Given the description of an element on the screen output the (x, y) to click on. 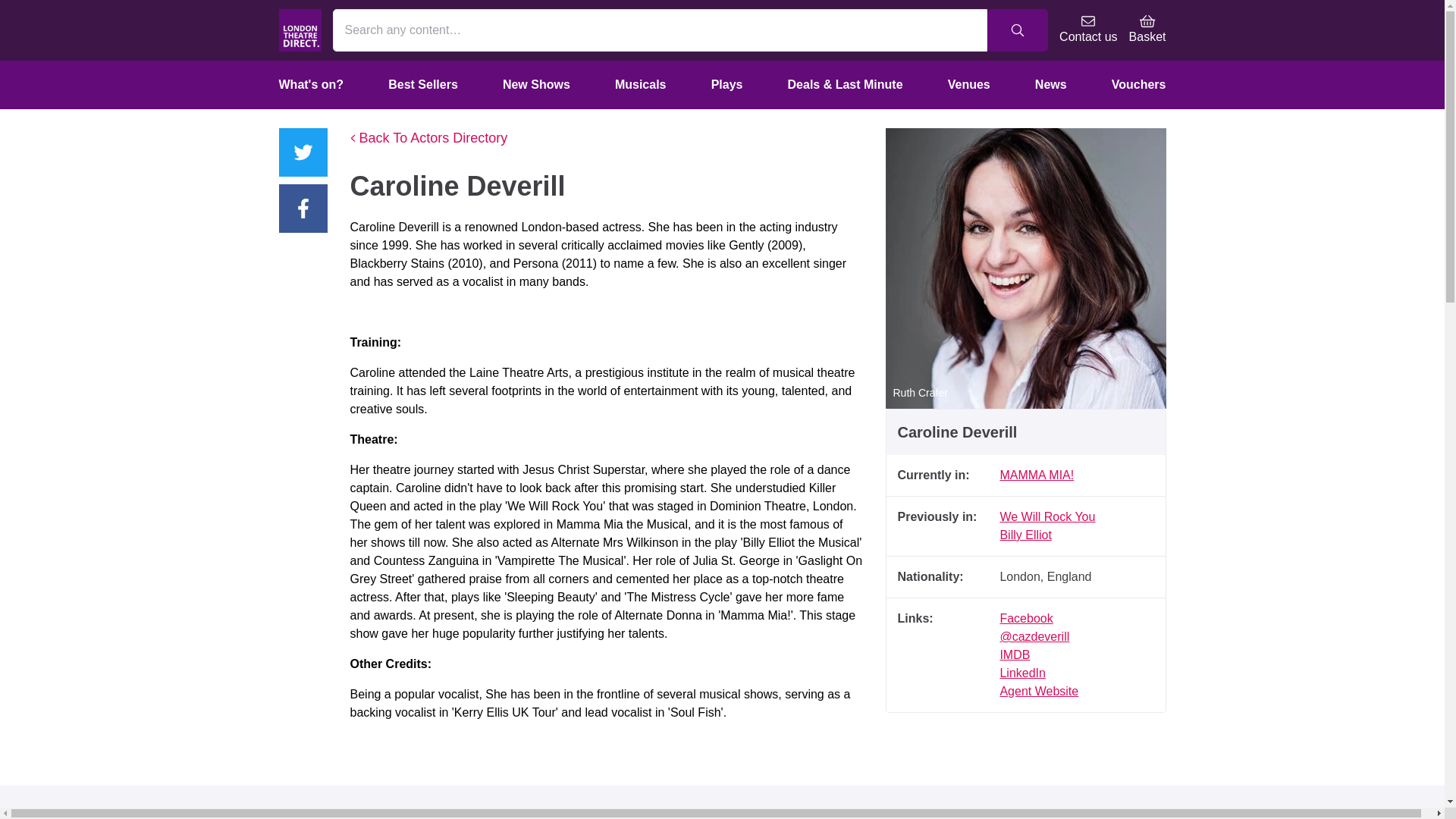
Musicals (641, 84)
Contact us (1087, 29)
News (1050, 84)
Share on Facebook (303, 208)
Plays (727, 84)
Vouchers (1138, 84)
New Shows (536, 84)
What's on? (310, 84)
Basket (1147, 29)
Contact us (1087, 29)
